Given the description of an element on the screen output the (x, y) to click on. 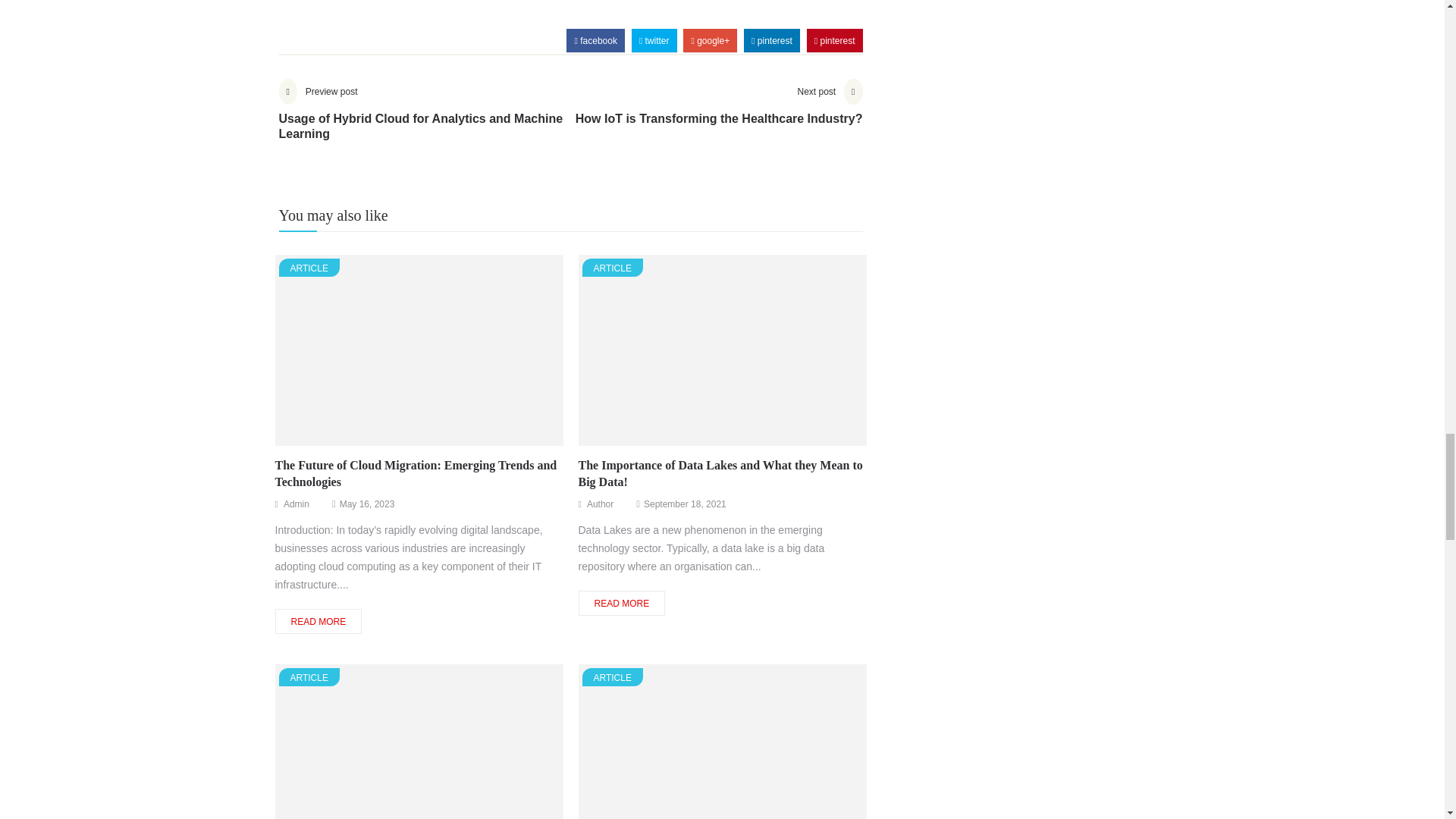
pinterest (834, 40)
twitter (654, 40)
facebook (594, 40)
twitter (654, 40)
next post (719, 113)
facebook (594, 40)
pinterest (771, 40)
pinterest (834, 40)
prev post (424, 121)
